Given the description of an element on the screen output the (x, y) to click on. 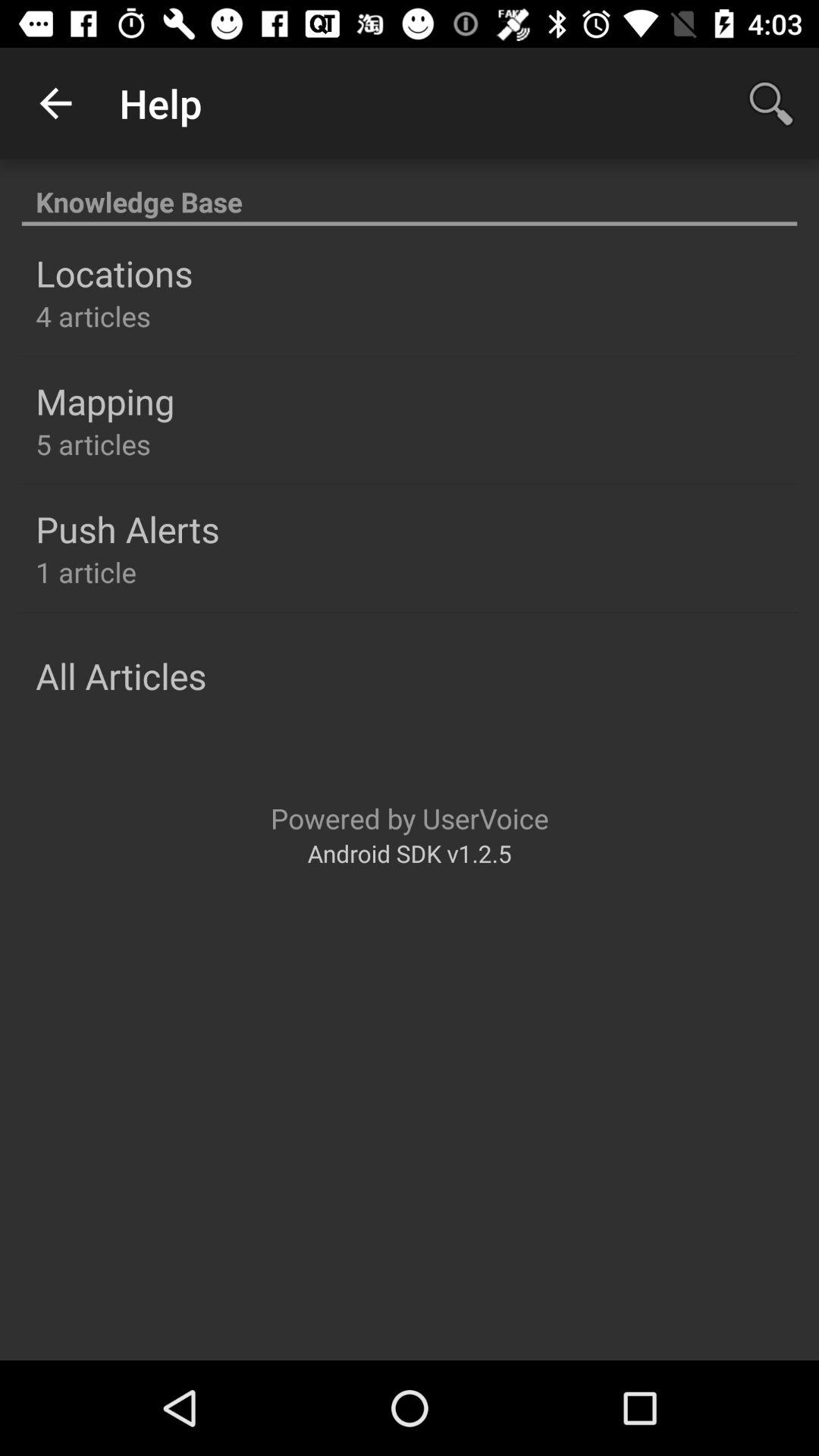
choose the icon above the 1 article item (127, 529)
